Given the description of an element on the screen output the (x, y) to click on. 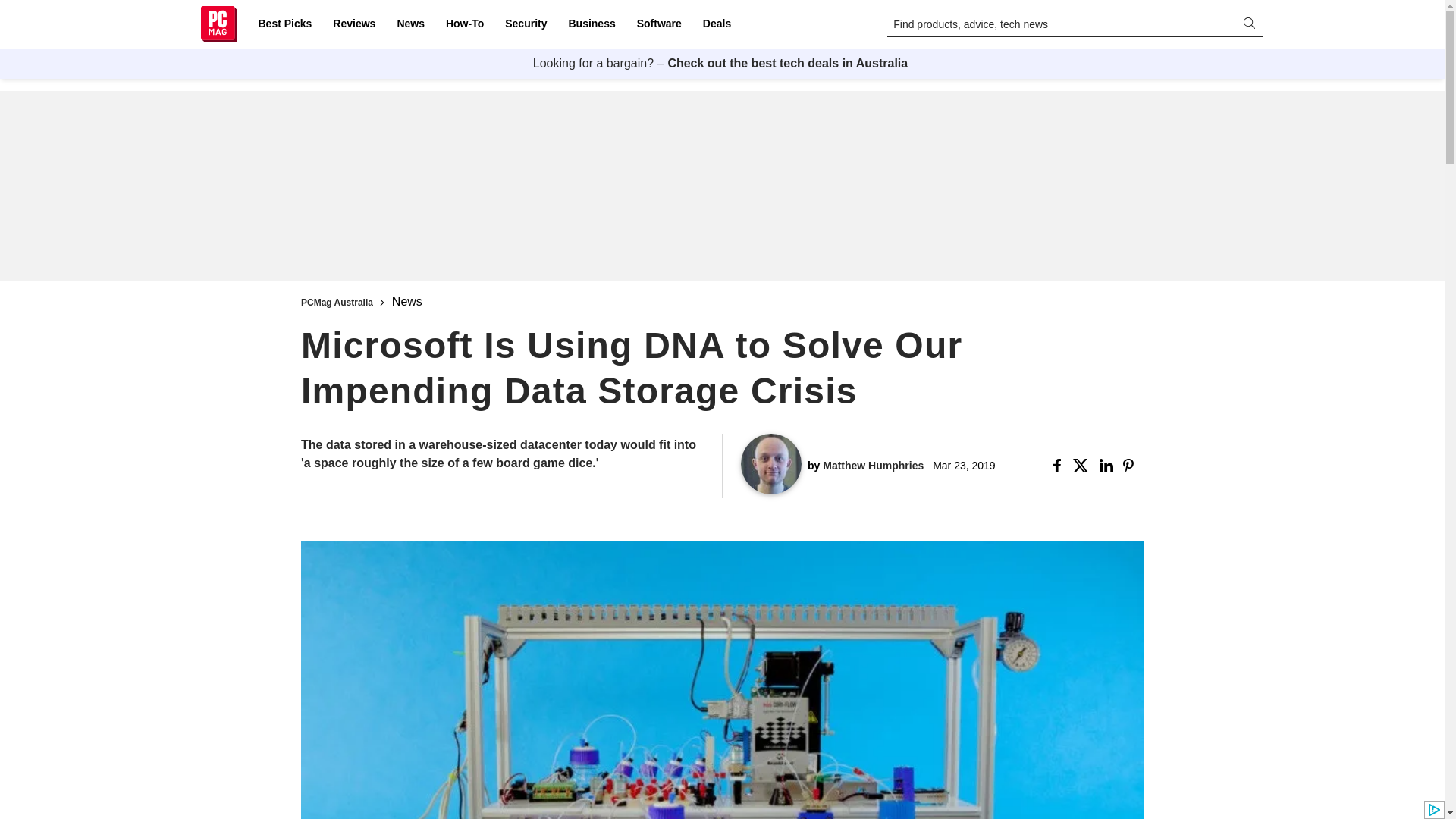
Share this Story on Linkedin (1107, 465)
How-To (464, 24)
Share this Story on Facebook (1059, 465)
Reviews (353, 24)
Best Picks (284, 24)
Share this Story on Pinterest (1132, 465)
Security (526, 24)
Share this Story on X (1083, 465)
Business (591, 24)
